Given the description of an element on the screen output the (x, y) to click on. 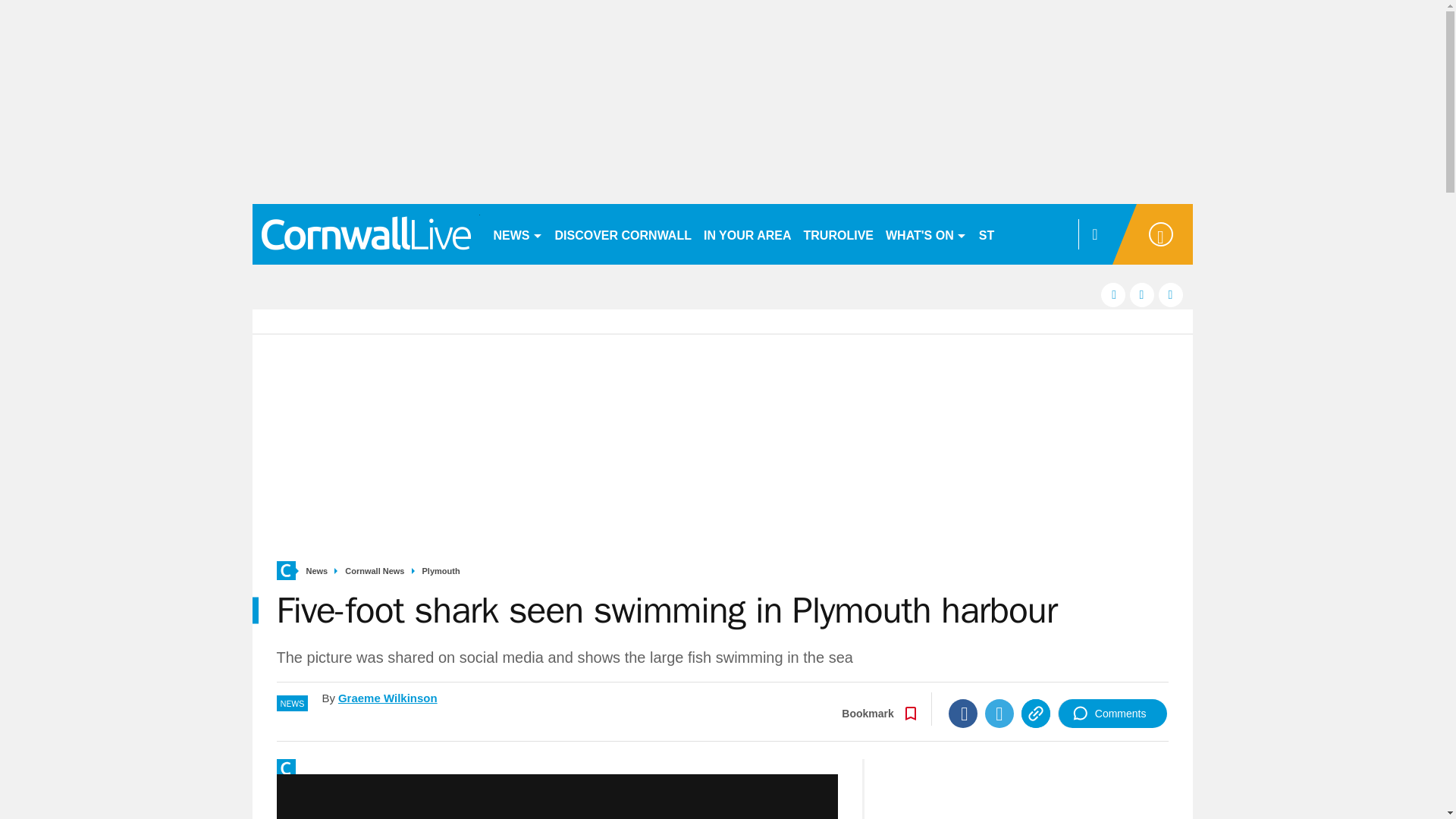
Twitter (999, 713)
instagram (1170, 294)
Comments (1112, 713)
TRUROLIVE (838, 233)
cornwalllive (365, 233)
ST AUSTELL (1015, 233)
DISCOVER CORNWALL (622, 233)
WHAT'S ON (925, 233)
facebook (1112, 294)
Facebook (962, 713)
twitter (1141, 294)
IN YOUR AREA (747, 233)
NEWS (517, 233)
